Given the description of an element on the screen output the (x, y) to click on. 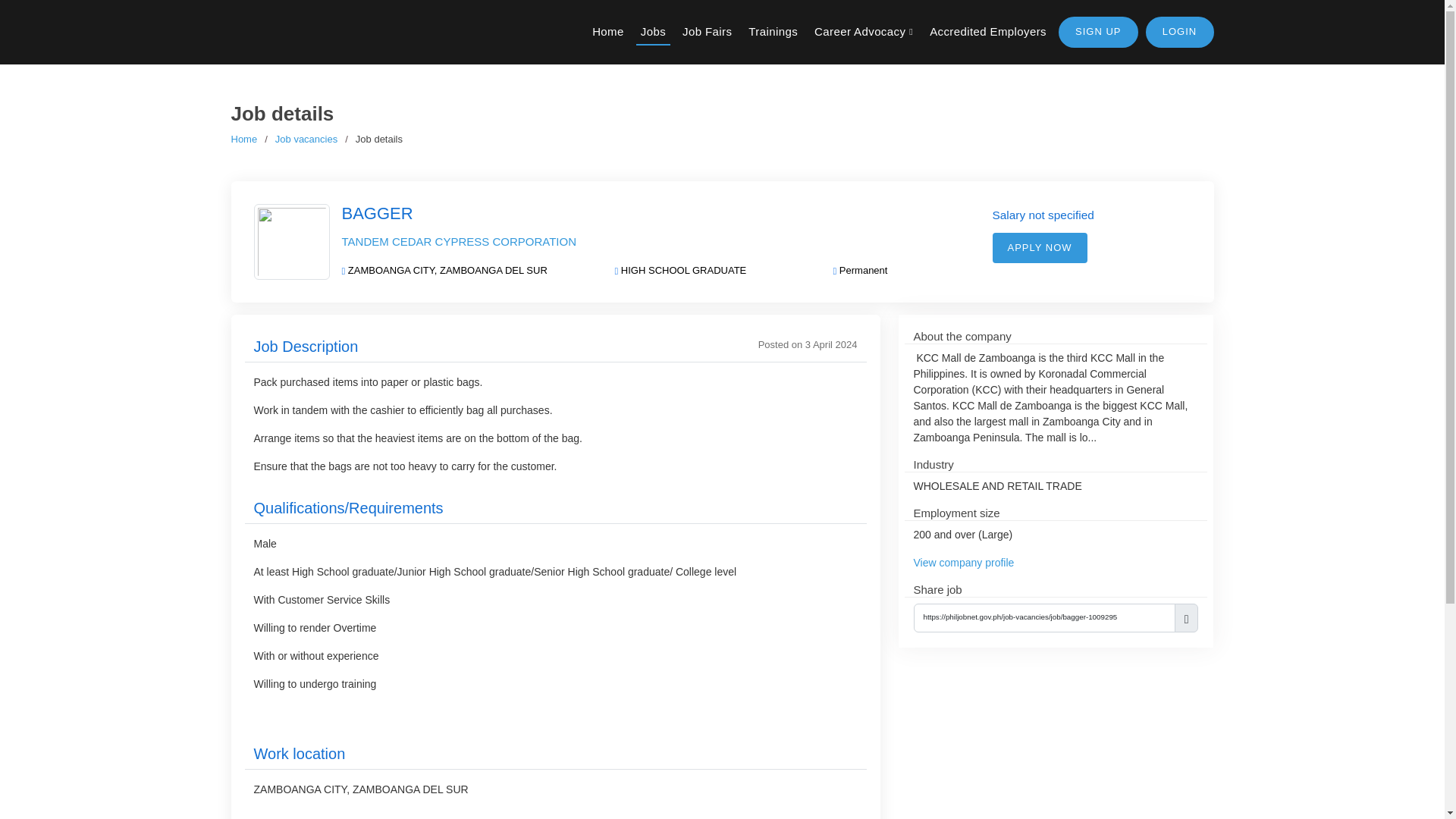
Career Advocacy (863, 31)
Home (243, 138)
Job vacancies (306, 138)
Accredited Employers (987, 31)
Trainings (773, 31)
Trainings (773, 31)
TANDEM CEDAR CYPRESS CORPORATION (457, 241)
Home (608, 31)
Job Fairs (707, 31)
Career Advocacy (863, 31)
View company profile (962, 562)
Job Fairs (707, 31)
Home (608, 31)
Jobs (652, 31)
Accredited Employers (987, 31)
